Given the description of an element on the screen output the (x, y) to click on. 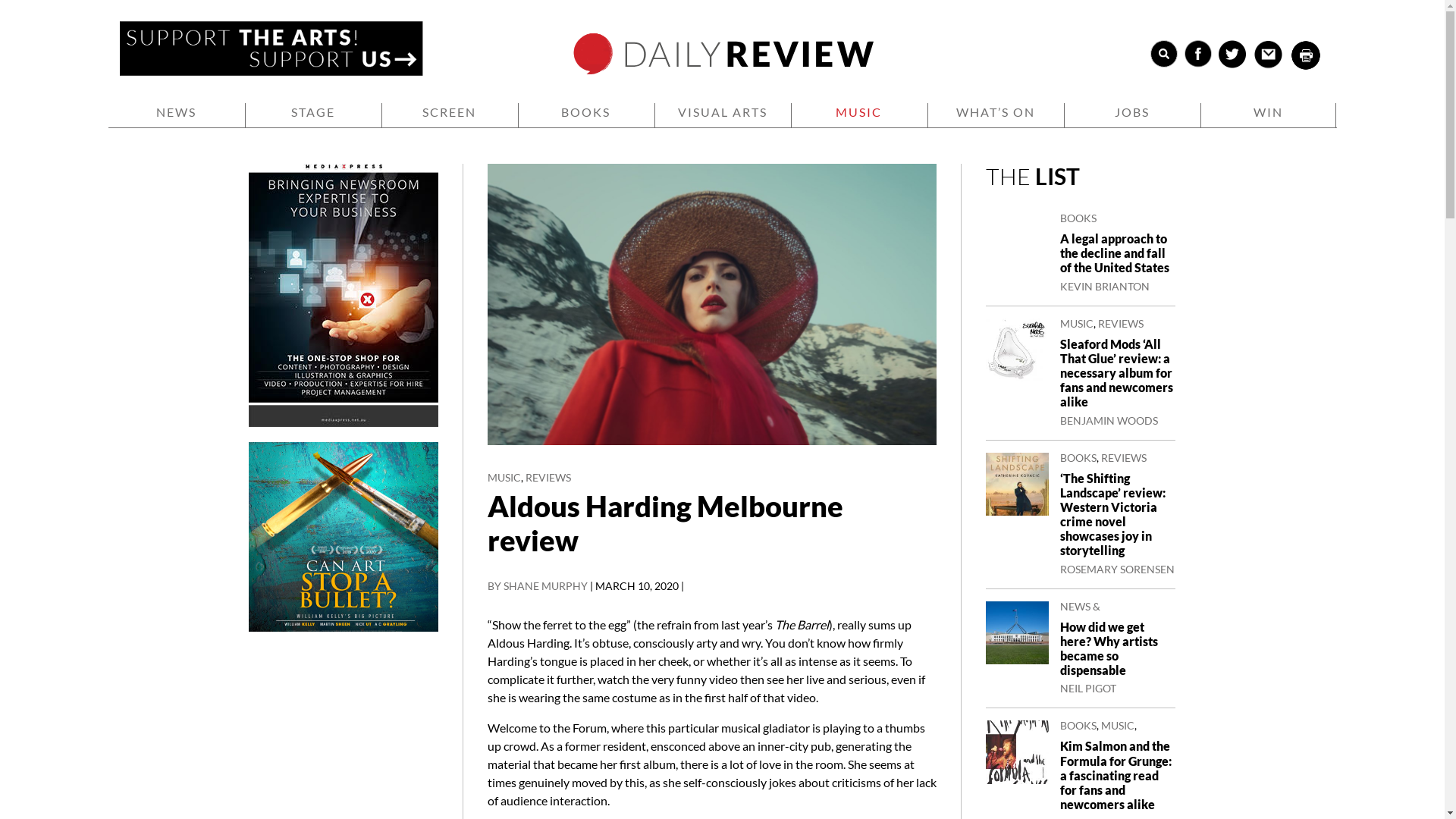
KEVIN BRIANTON Element type: text (1104, 285)
BOOKS Element type: text (1078, 724)
BOOKS Element type: text (1078, 217)
JOBS Element type: text (1132, 115)
NEWS Element type: text (175, 115)
MUSIC Element type: text (1117, 724)
BY SHANE MURPHY Element type: text (537, 585)
BOOKS Element type: text (1078, 456)
MUSIC Element type: text (859, 115)
NEWS & COMMENTARY Element type: text (1098, 611)
BENJAMIN WOODS Element type: text (1108, 420)
REVIEWS Element type: text (1120, 322)
How did we get here? Why artists became so dispensable Element type: text (1108, 648)
SCREEN Element type: text (449, 115)
WIN Element type: text (1268, 115)
VISUAL ARTS Element type: text (722, 115)
ROSEMARY SORENSEN Element type: text (1117, 568)
STAGE Element type: text (313, 115)
BOOKS Element type: text (586, 115)
Email to a friend/colleague Element type: hover (1270, 55)
REVIEWS Element type: text (1082, 735)
NEIL PIGOT Element type: text (1088, 687)
MUSIC Element type: text (503, 476)
REVIEWS Element type: text (1123, 456)
MUSIC Element type: text (1076, 322)
REVIEWS Element type: text (547, 476)
